Given the description of an element on the screen output the (x, y) to click on. 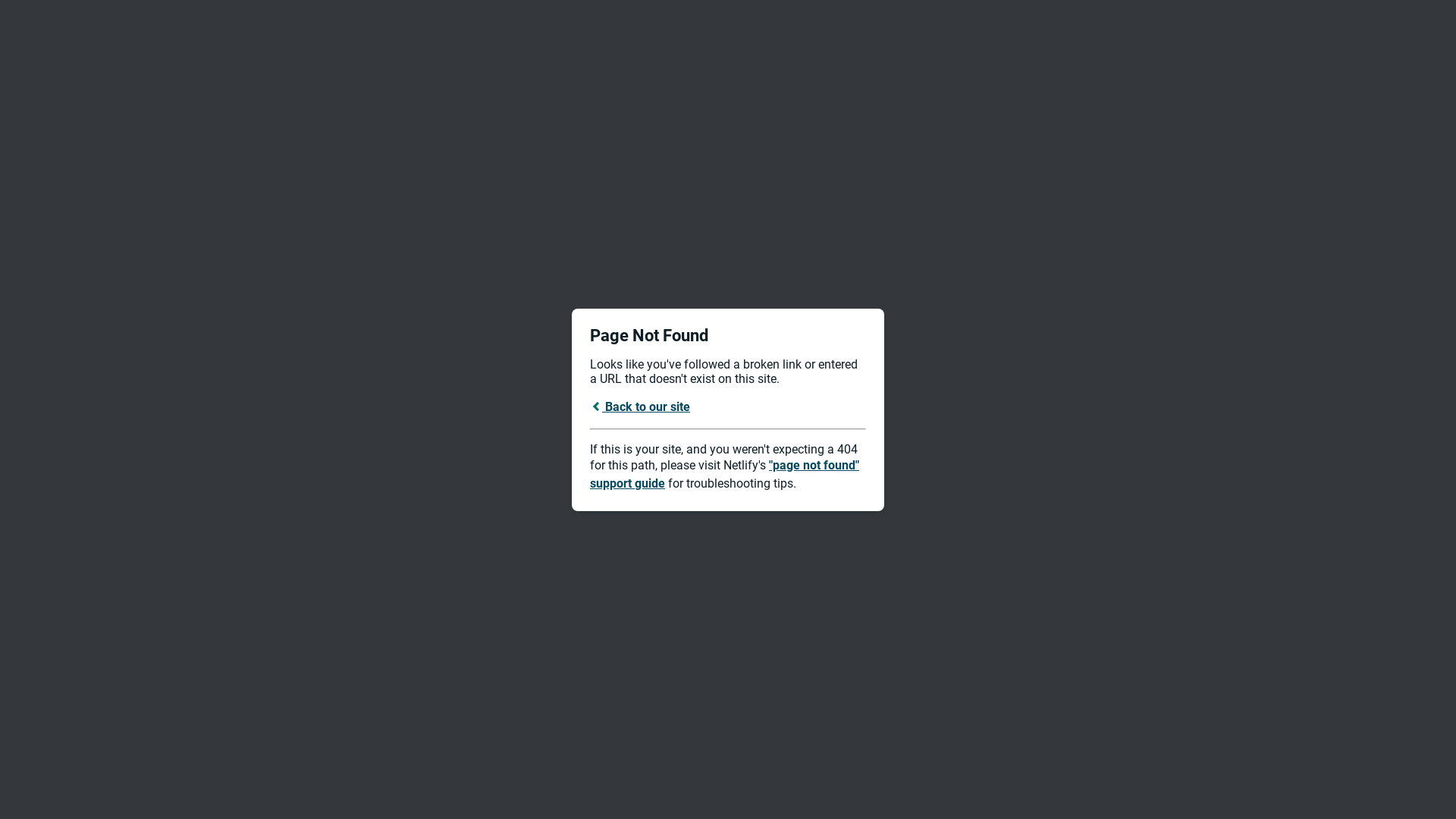
"page not found" support guide Element type: text (724, 474)
Back to our site Element type: text (639, 405)
